Given the description of an element on the screen output the (x, y) to click on. 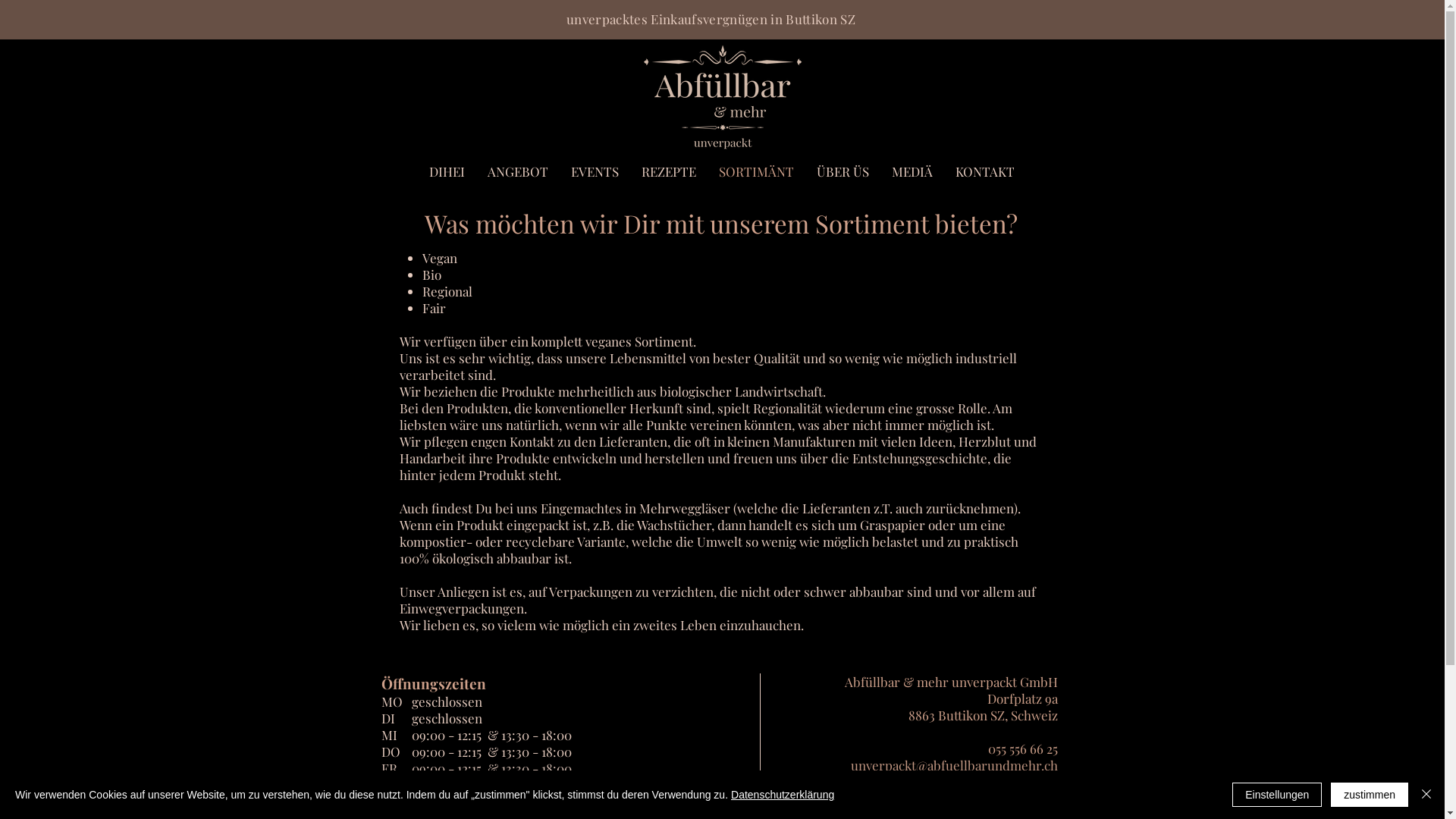
zustimmen Element type: text (1369, 794)
EVENTS Element type: text (594, 171)
DIHEI Element type: text (446, 171)
055 556 66 25 Element type: text (1022, 748)
REZEPTE Element type: text (667, 171)
unverpackt@abfuellbarundmehr.ch Element type: text (953, 764)
Einstellungen Element type: text (1276, 794)
ANGEBOT Element type: text (517, 171)
KONTAKT Element type: text (984, 171)
